Given the description of an element on the screen output the (x, y) to click on. 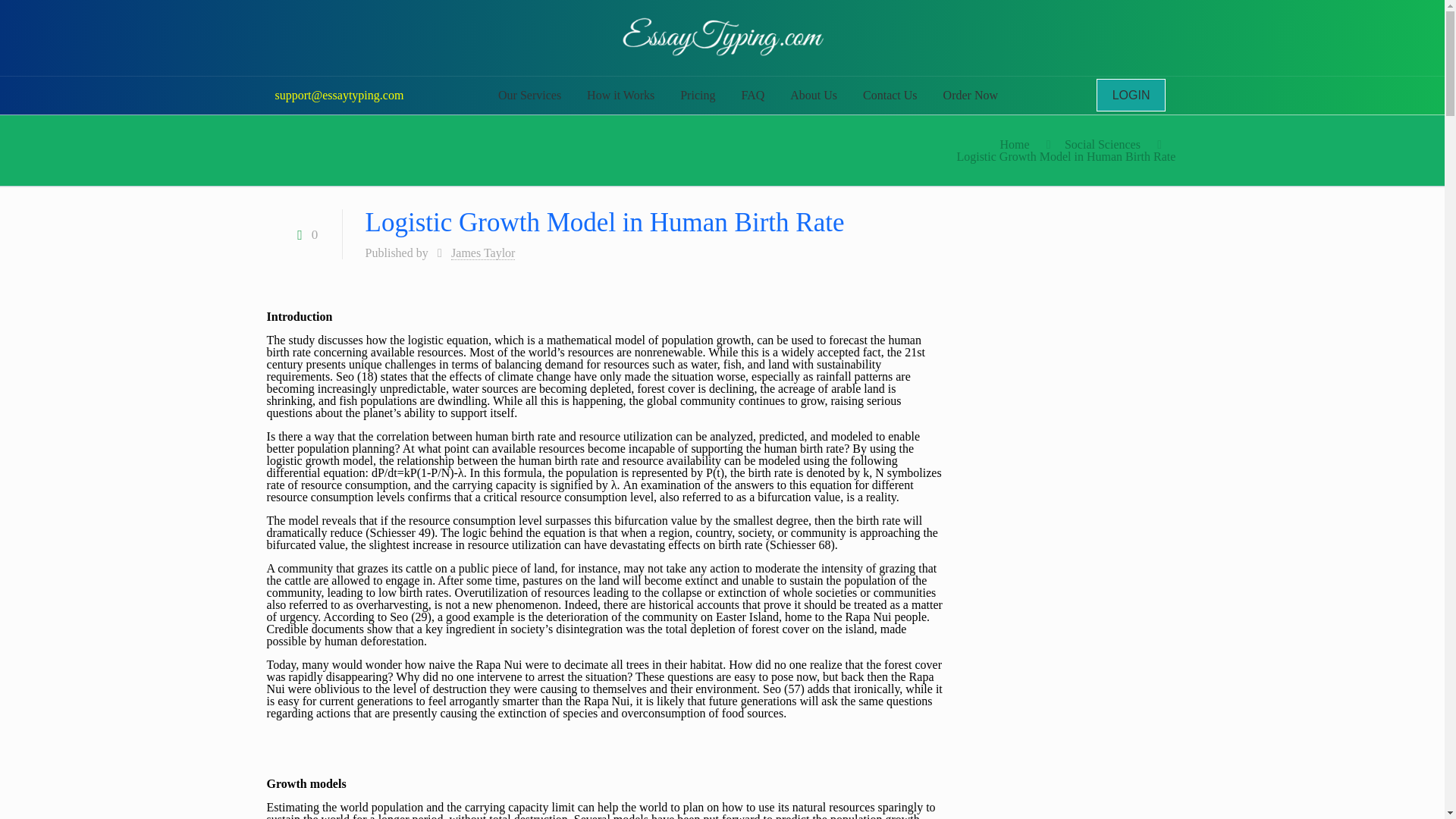
Pricing (697, 95)
LOGIN (1131, 94)
About Us (813, 95)
Contact Us (890, 95)
FAQ (752, 95)
How it Works (619, 95)
Our Services (528, 95)
Order Now (970, 95)
